Given the description of an element on the screen output the (x, y) to click on. 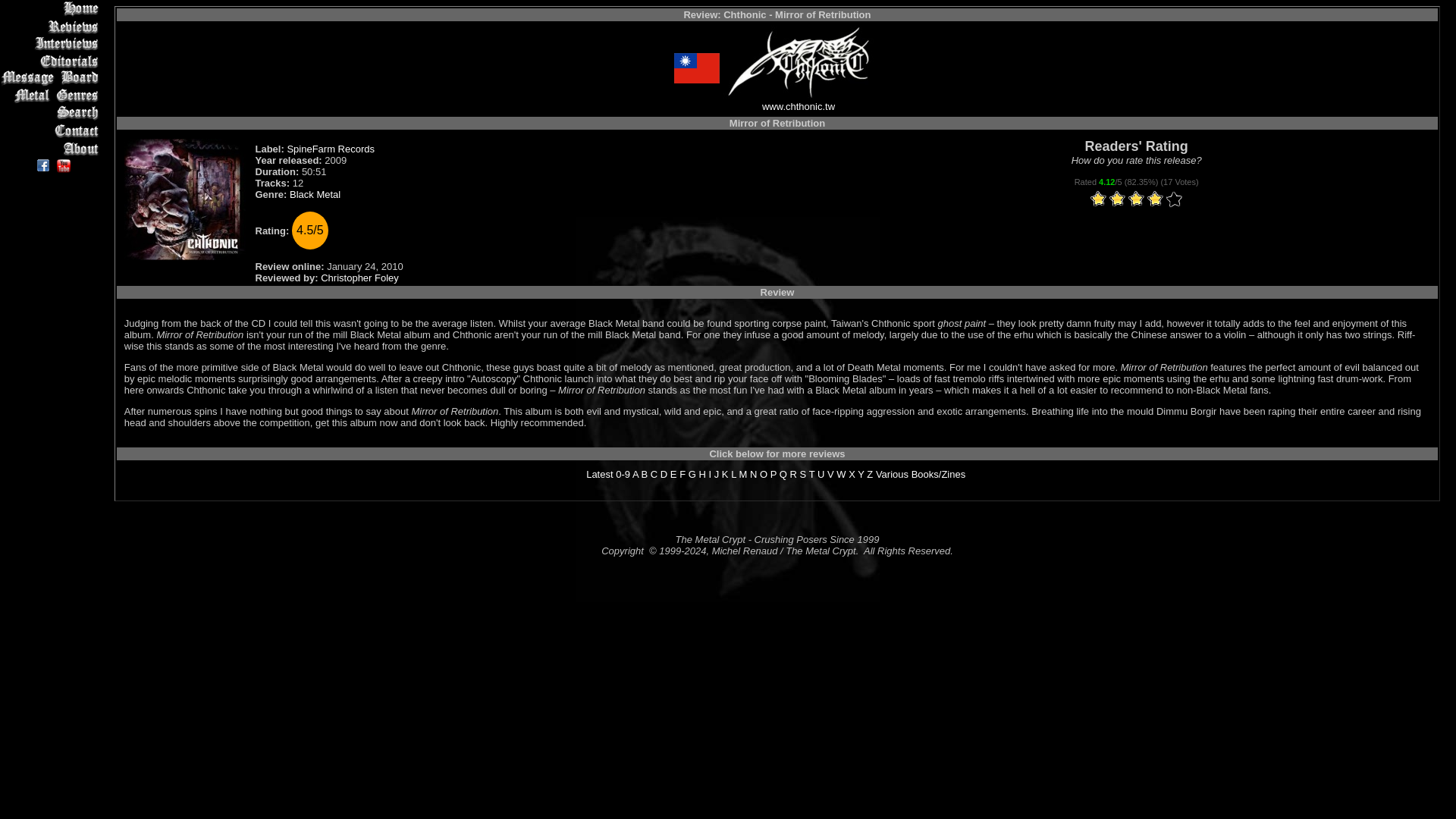
Discuss Metal and Other Stuff (52, 77)
Return to the main page (52, 8)
5 (1136, 199)
0-9 (622, 473)
1 star out of 5 (1098, 199)
Search the Site's Contents (52, 113)
5 stars out of 5 (1136, 199)
Latest (599, 473)
Editorials (52, 60)
Contact Us to Submit Material for Review or Other Inquiries (52, 130)
www.chthonic.tw (797, 106)
Contact (52, 130)
Home (52, 8)
4 stars out of 5 (1126, 199)
2 stars out of 5 (1107, 199)
